Given the description of an element on the screen output the (x, y) to click on. 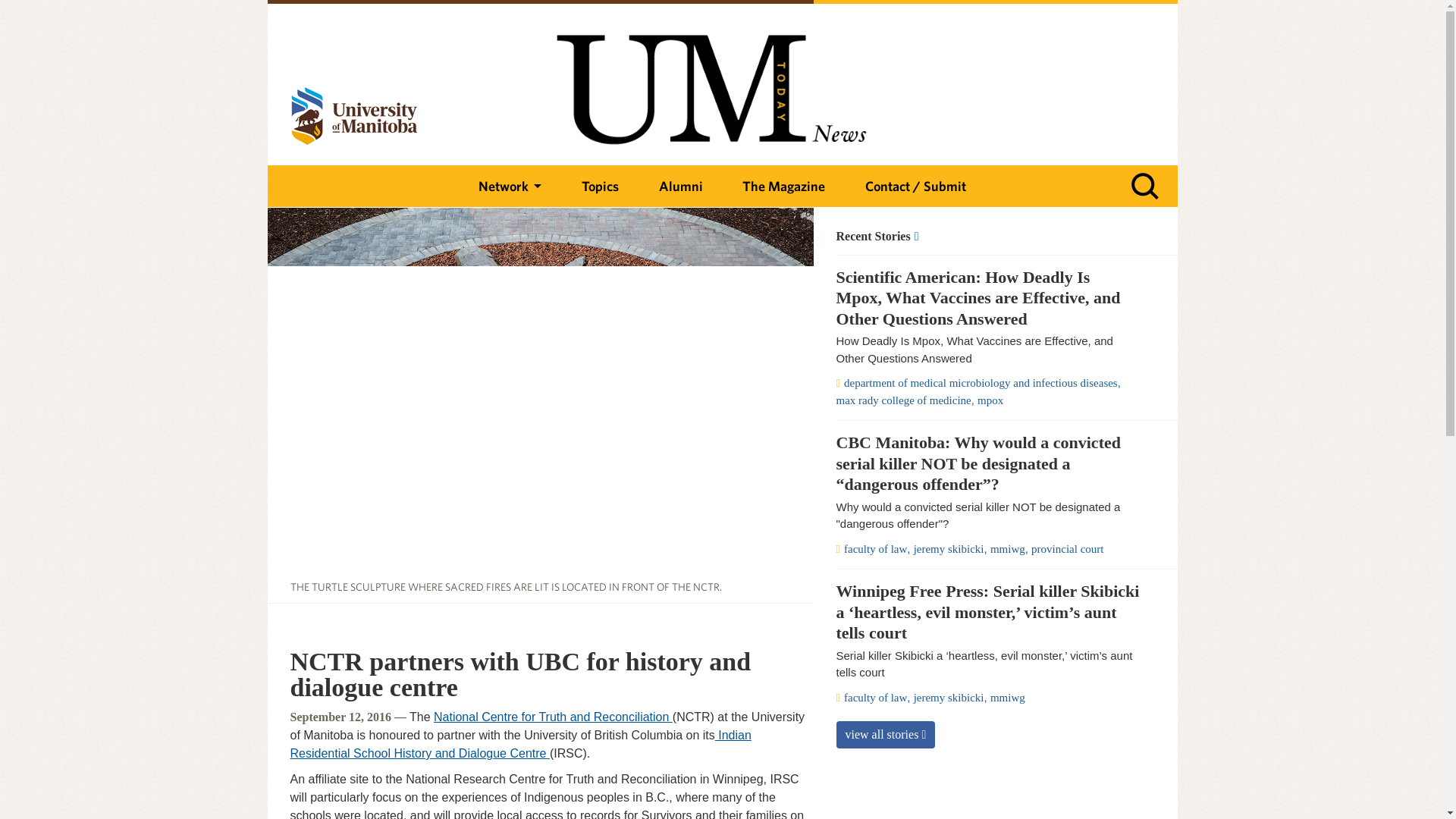
News Archives (986, 236)
Network (510, 186)
